Given the description of an element on the screen output the (x, y) to click on. 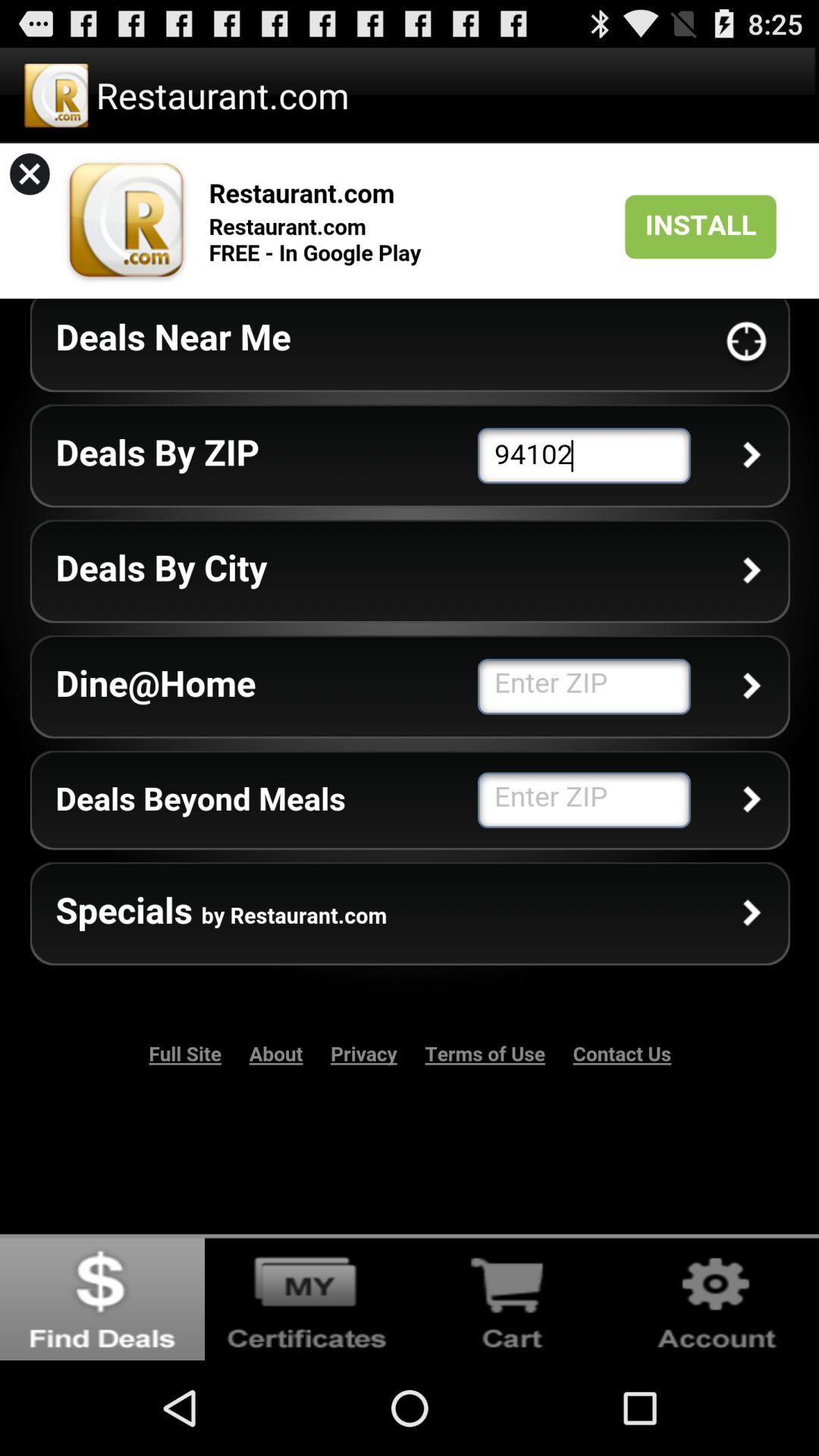
seetings icon (716, 1297)
